Given the description of an element on the screen output the (x, y) to click on. 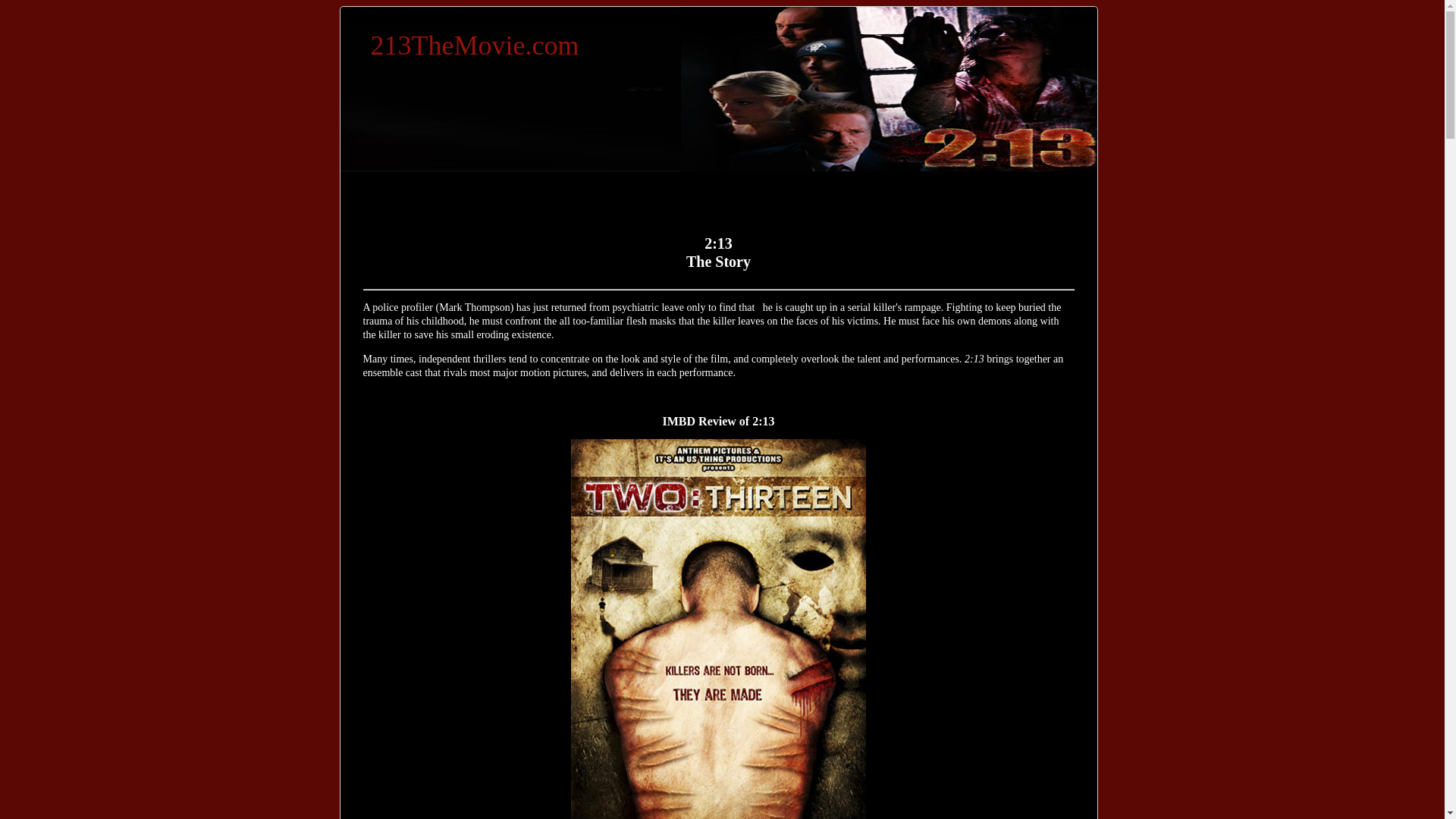
213TheMovie.com Element type: text (474, 45)
